Given the description of an element on the screen output the (x, y) to click on. 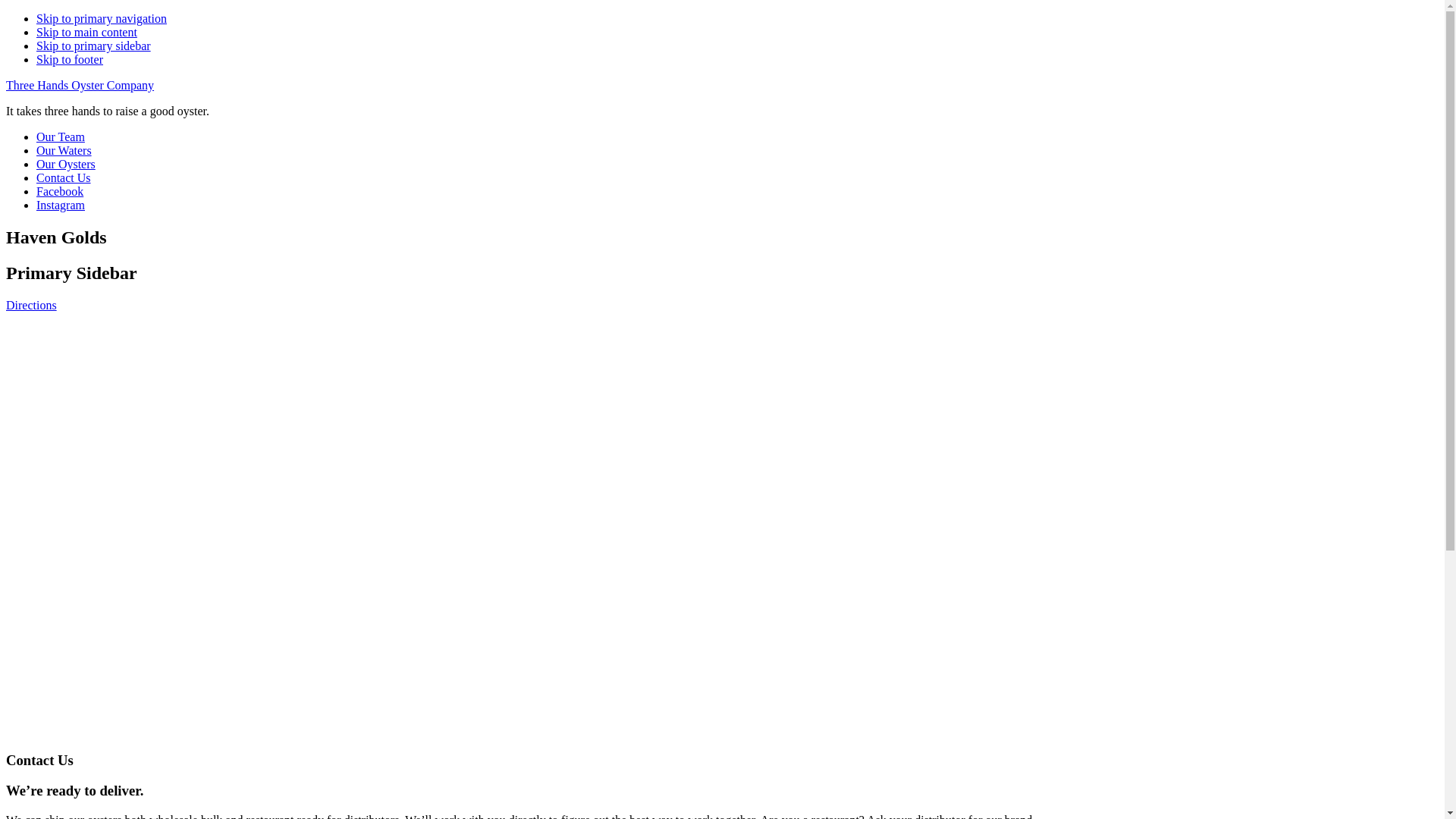
Skip to footer Element type: text (69, 59)
Our Oysters Element type: text (65, 163)
Our Team Element type: text (60, 136)
Skip to primary sidebar Element type: text (93, 45)
Skip to primary navigation Element type: text (101, 18)
Directions Element type: text (31, 304)
Three Hands Oyster Company Element type: text (79, 84)
Facebook Element type: text (59, 191)
Instagram Element type: text (60, 204)
Contact Us Element type: text (63, 177)
Skip to main content Element type: text (86, 31)
Our Waters Element type: text (63, 150)
